Given the description of an element on the screen output the (x, y) to click on. 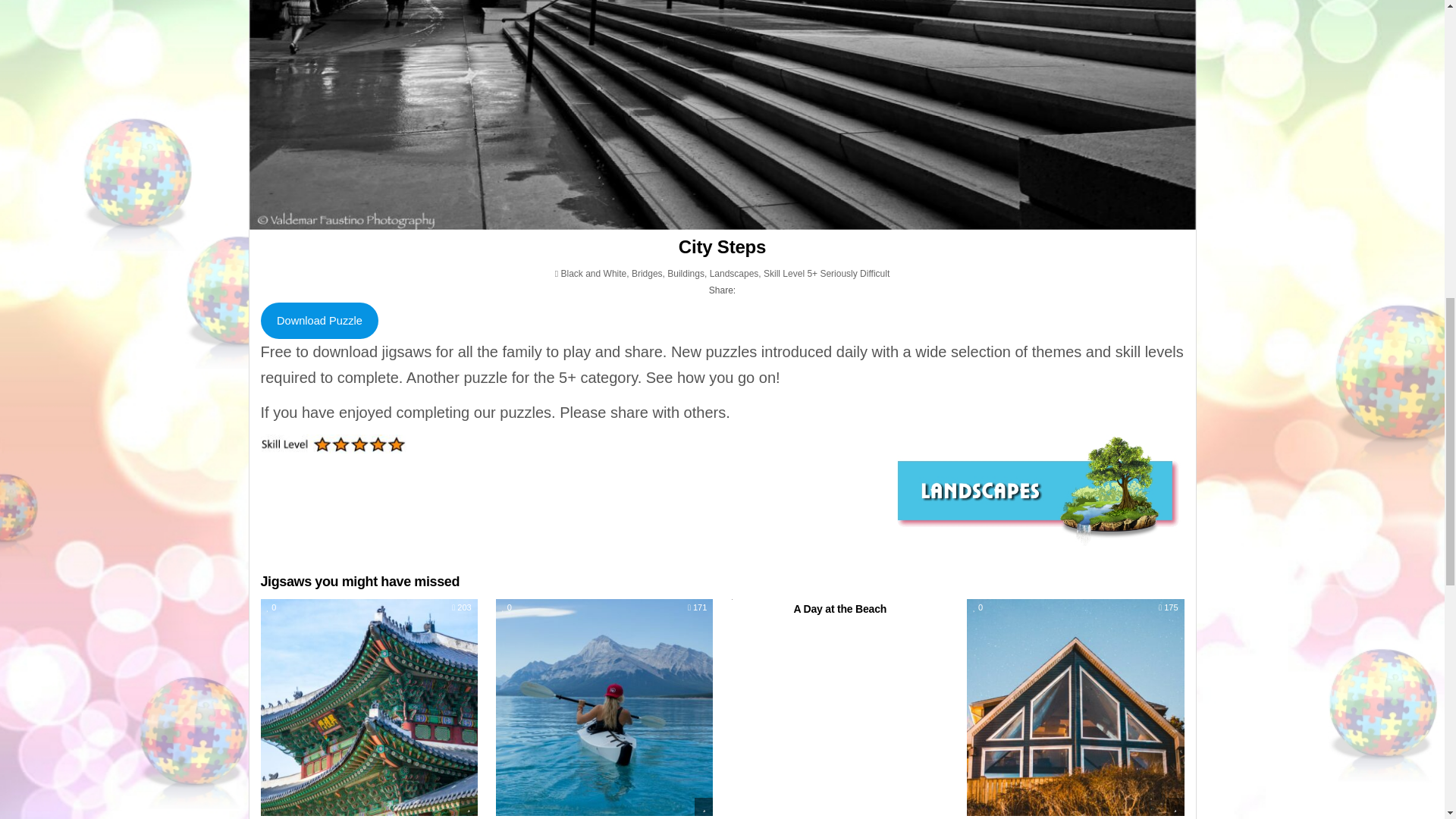
Buildings (685, 273)
Permanent Link to Oriental Roof Tops (368, 706)
Like this (507, 607)
City Steps (721, 246)
Permanent Link to Girl in a Kayak (604, 706)
Black and White (593, 273)
171 Views (696, 607)
203 Views (460, 607)
Landscapes (734, 273)
